Given the description of an element on the screen output the (x, y) to click on. 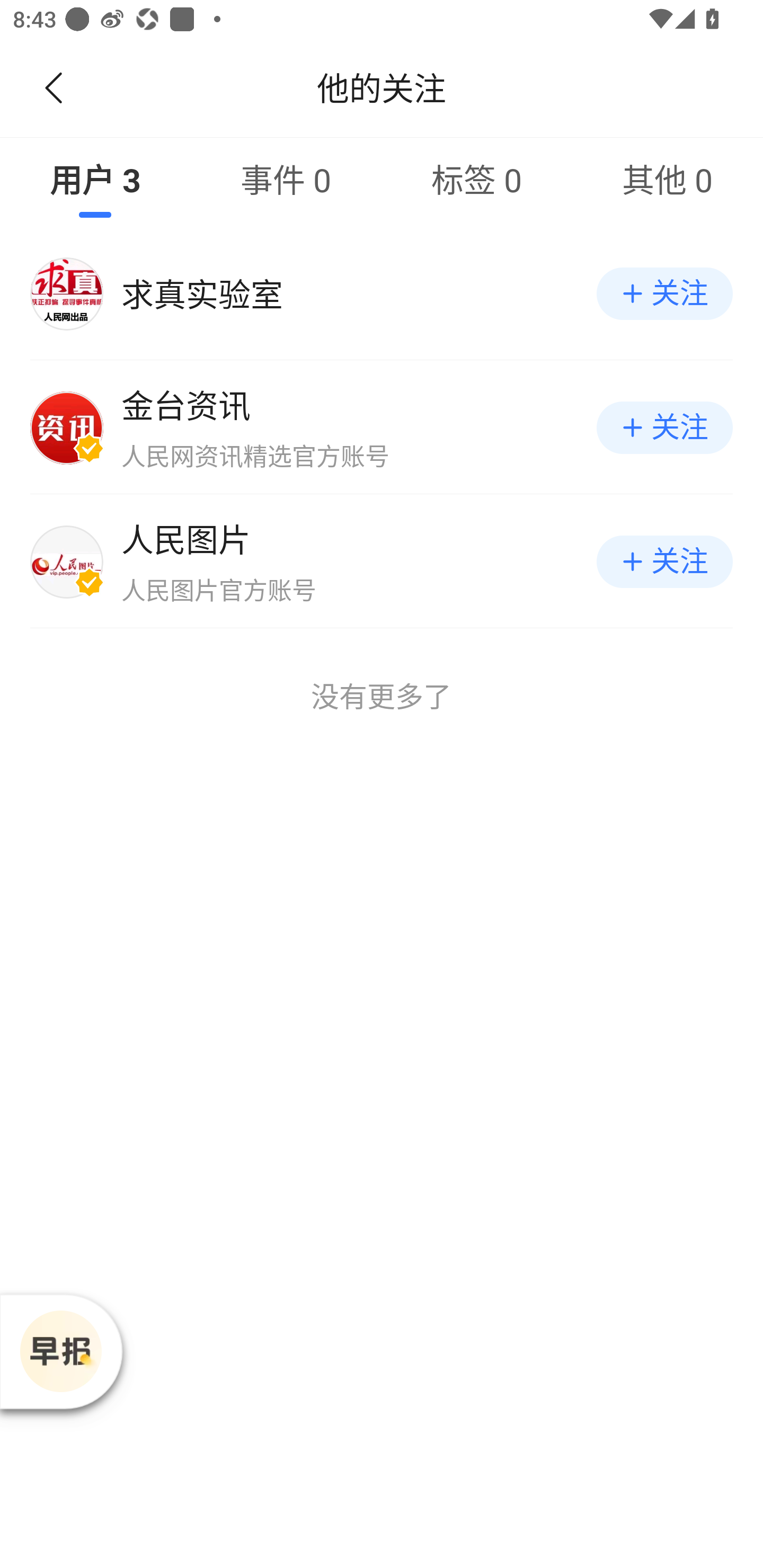
返回，可点击 (49, 87)
已选中用户&nbsp;3 (95, 179)
事件&nbsp;0，可选中 (285, 179)
标签&nbsp;0，可选中 (476, 179)
其他&nbsp;0，可选中 (667, 179)
头像，可点击 用户：求真实验室  关注 (381, 293)
 关注 (664, 293)
头像，可点击 用户：金台资讯 人民网资讯精选官方账号  关注 (381, 427)
 关注 (664, 427)
头像，可点击 用户：人民图片 人民图片官方账号  关注 (381, 561)
 关注 (664, 562)
播放器 (60, 1351)
